Given the description of an element on the screen output the (x, y) to click on. 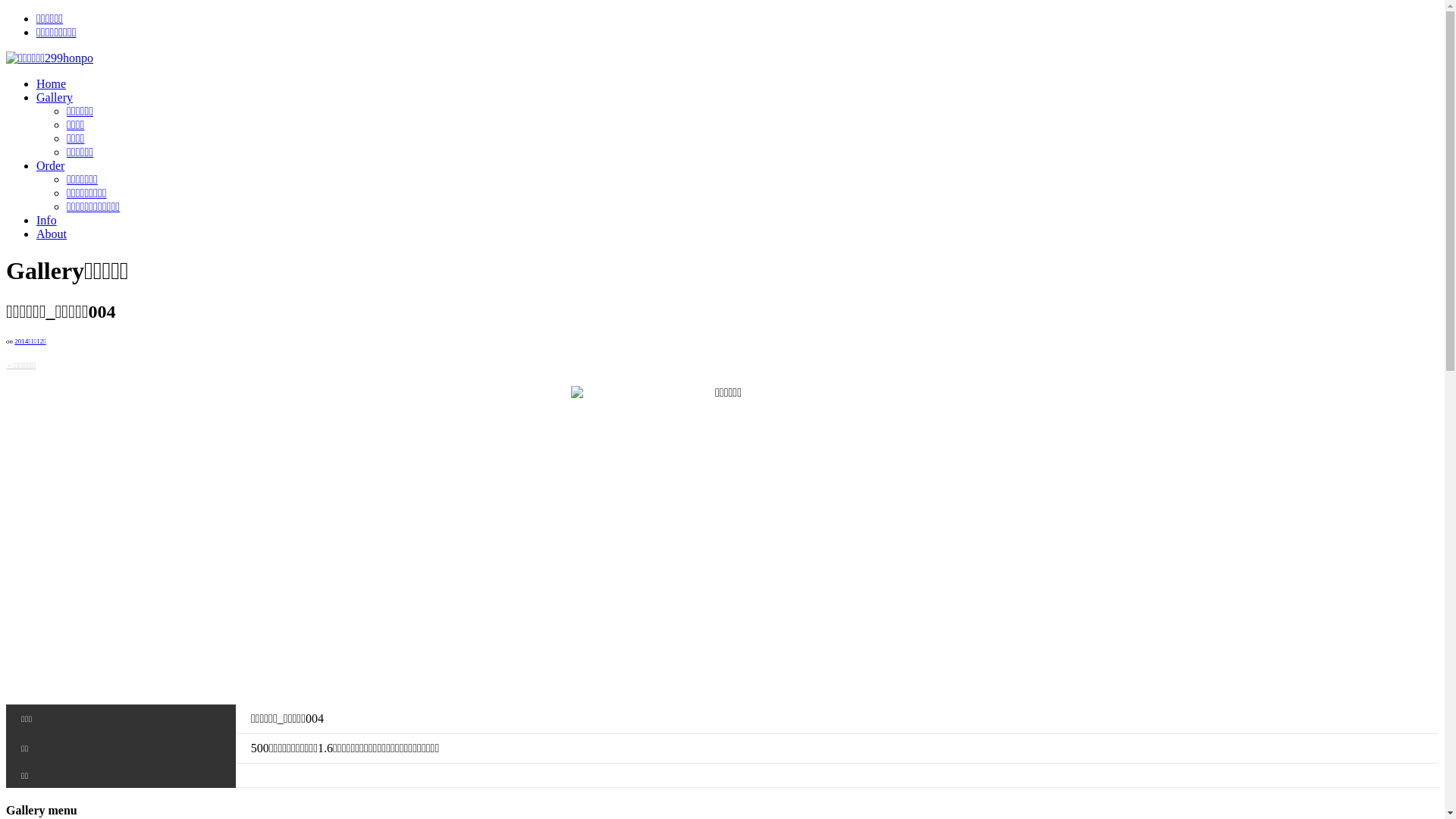
Gallery Element type: text (54, 97)
Order Element type: text (50, 165)
Home Element type: text (50, 83)
Info Element type: text (46, 219)
About Element type: text (51, 233)
